Given the description of an element on the screen output the (x, y) to click on. 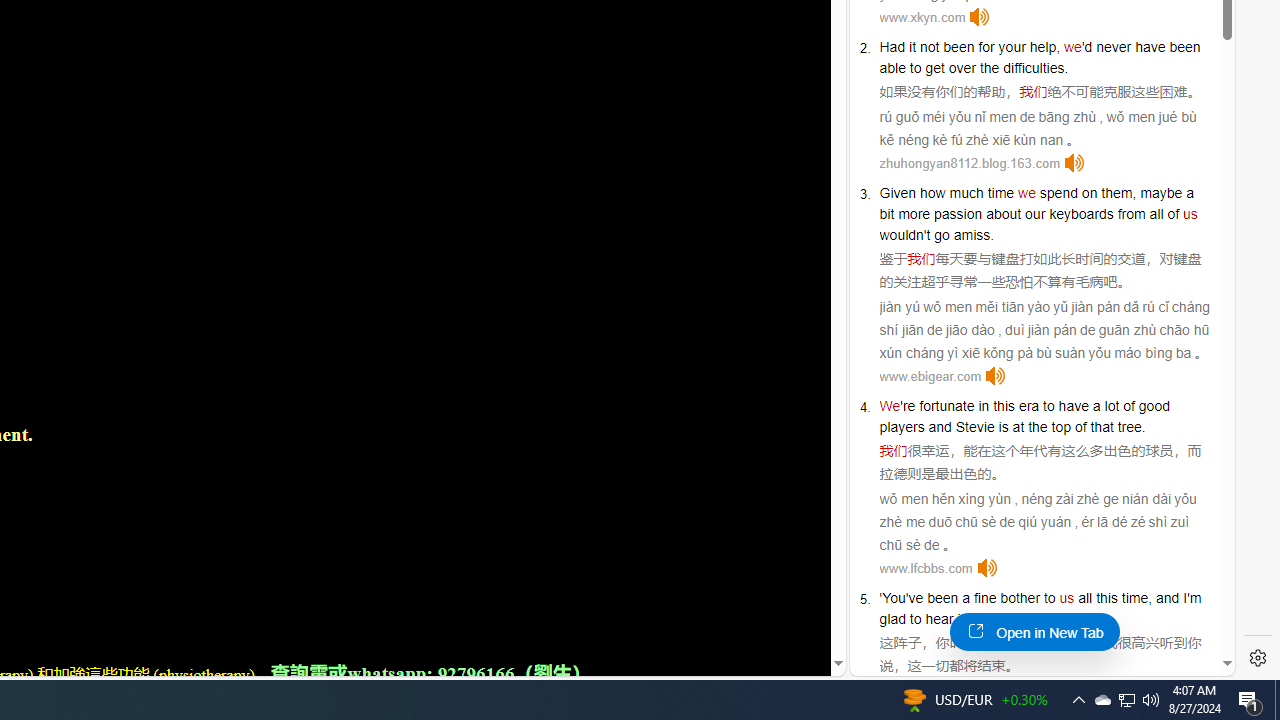
stop (1044, 619)
the (989, 67)
is (1003, 426)
and (940, 426)
Click to listen (986, 568)
glad (892, 619)
